Given the description of an element on the screen output the (x, y) to click on. 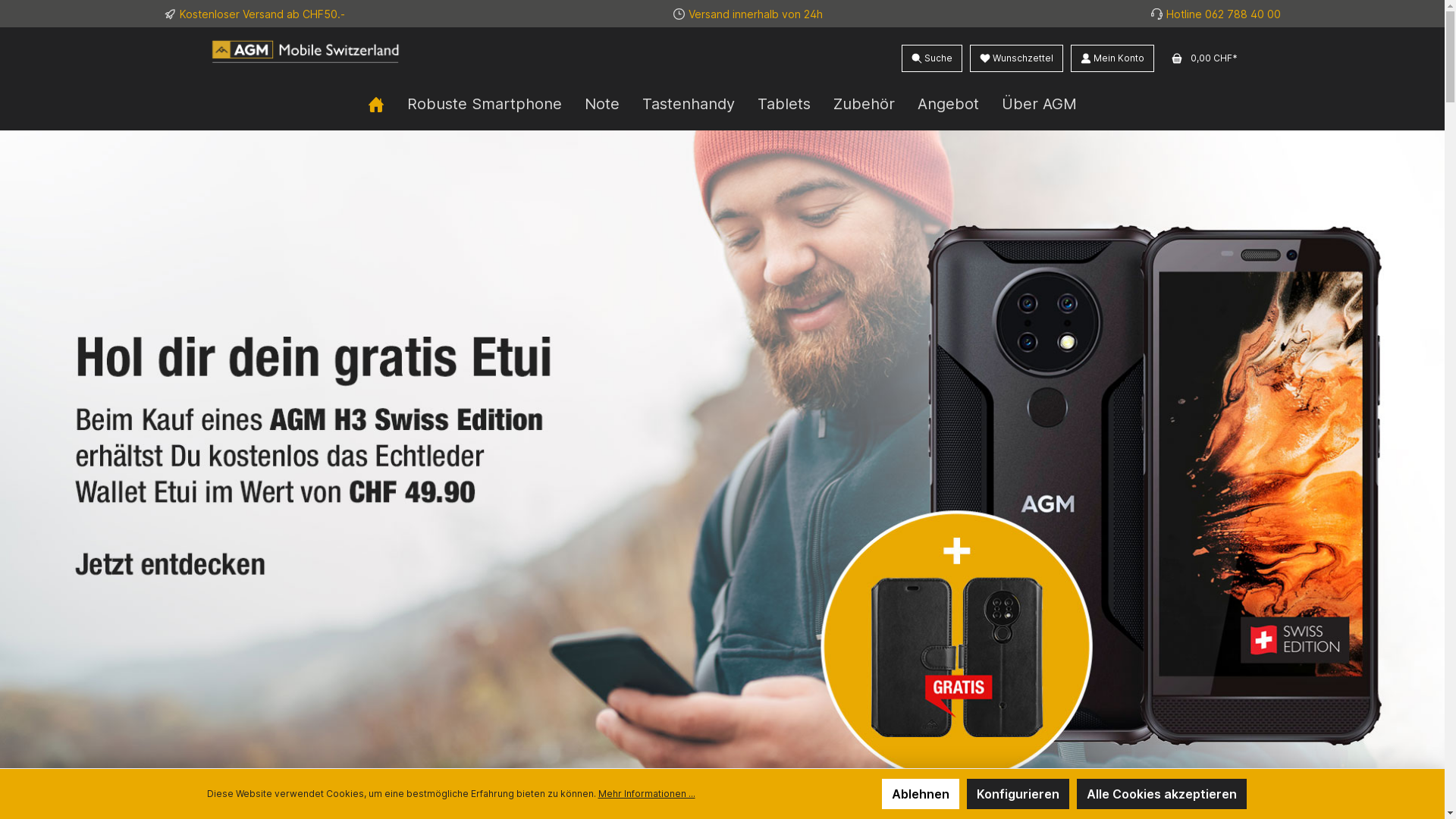
Mehr Informationen ... Element type: text (645, 793)
Robuste Smartphone Element type: text (484, 103)
Home Element type: hover (375, 103)
Suche Element type: text (930, 58)
Alle Cookies akzeptieren Element type: text (1161, 793)
Konfigurieren Element type: text (1017, 793)
Zur Startseite gehen Element type: hover (372, 58)
0,00 CHF* Element type: text (1199, 58)
Ablehnen Element type: text (919, 793)
Tastenhandy Element type: text (688, 103)
Mein Konto Element type: text (1112, 58)
Wunschzettel Element type: text (1015, 58)
Tablets Element type: text (784, 103)
Note Element type: text (601, 103)
